Given the description of an element on the screen output the (x, y) to click on. 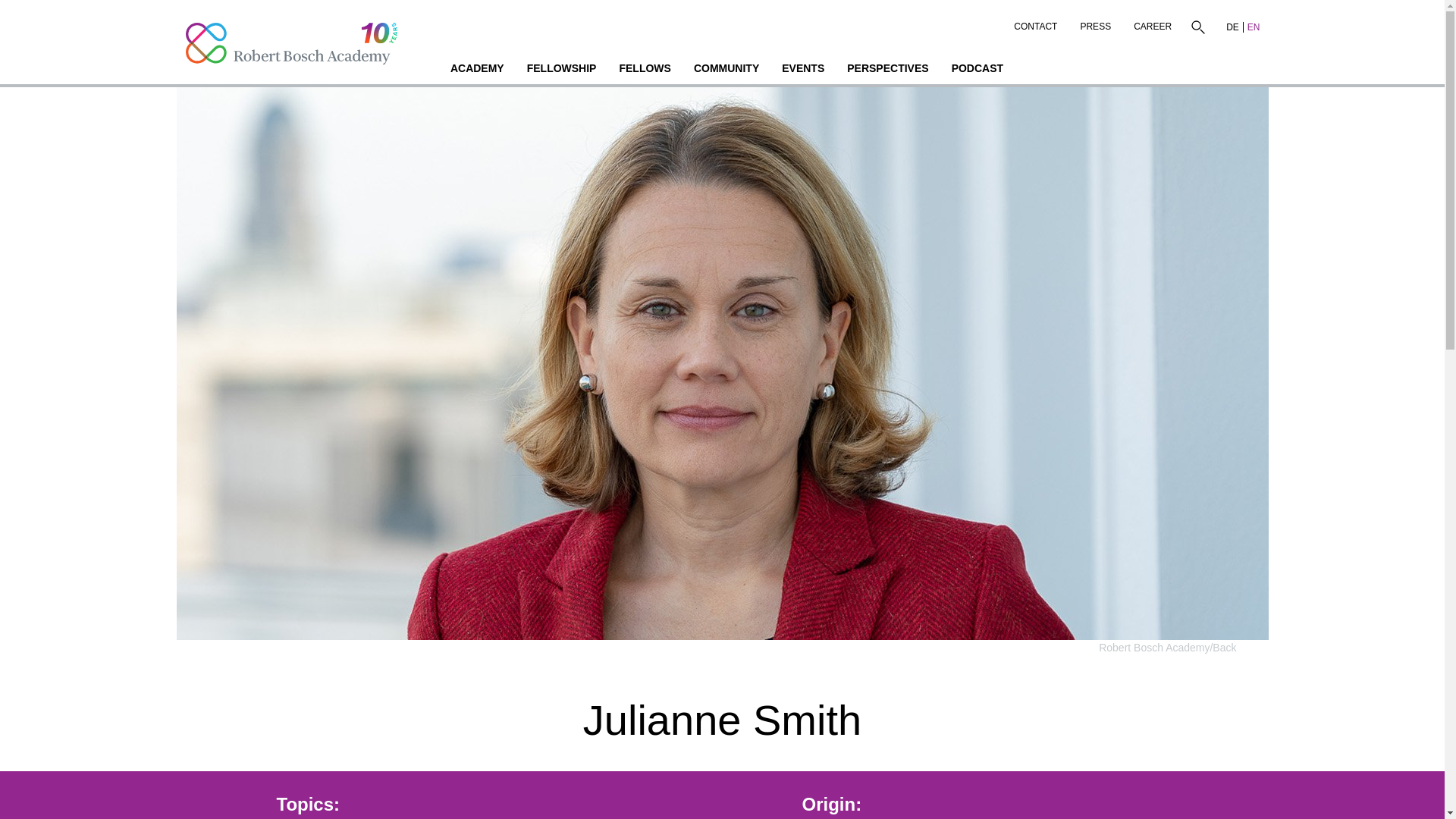
Search (1196, 27)
COMMUNITY (726, 69)
Julianne Smith (722, 719)
German (1233, 27)
Home (293, 42)
CONTACT (1035, 22)
EN (1253, 27)
FELLOWS (644, 69)
PRESS (1095, 22)
PODCAST (977, 69)
CAREER (1152, 22)
DE (1233, 27)
EVENTS (802, 69)
PERSPECTIVES (887, 69)
